Given the description of an element on the screen output the (x, y) to click on. 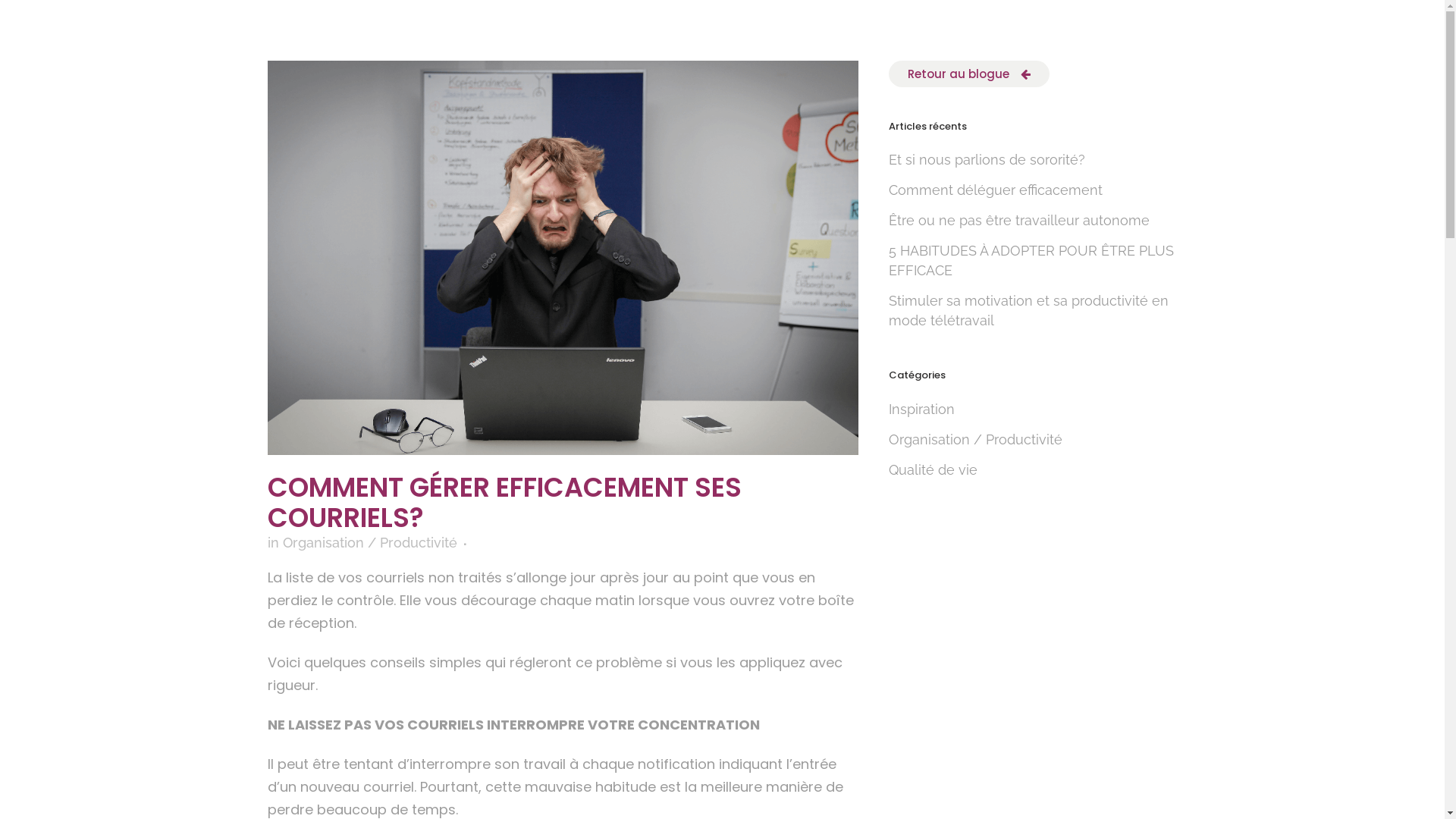
Retour au blogue Element type: text (968, 73)
Inspiration Element type: text (921, 409)
